Given the description of an element on the screen output the (x, y) to click on. 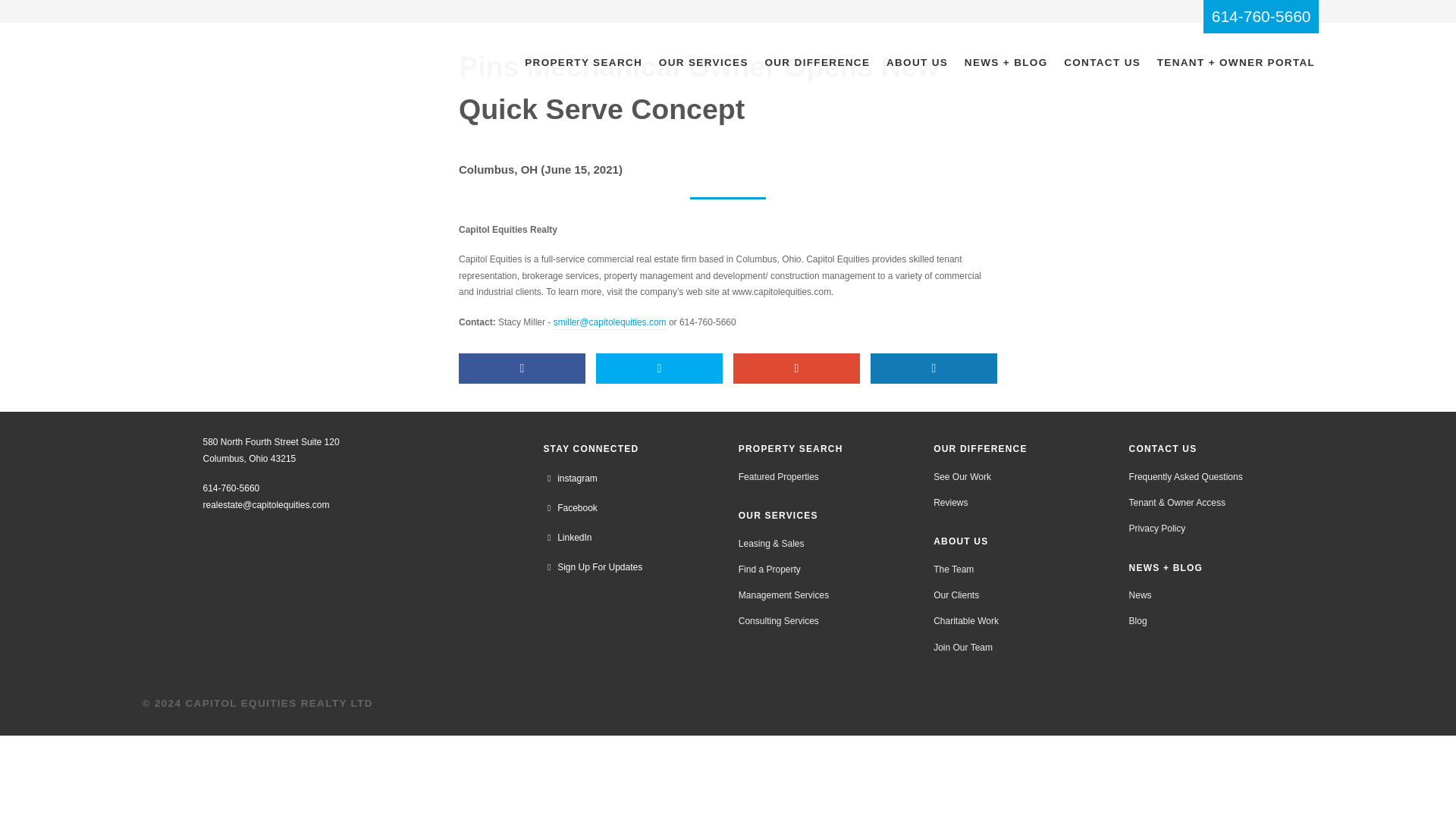
OUR DIFFERENCE (818, 64)
Featured Properties (778, 476)
OUR SERVICES (777, 515)
Find a Property (769, 569)
PROPERTY SEARCH (583, 64)
Capitol Equities (206, 42)
ABOUT US (916, 64)
instagram (569, 478)
PROPERTY SEARCH (790, 449)
Management Services (782, 596)
